Given the description of an element on the screen output the (x, y) to click on. 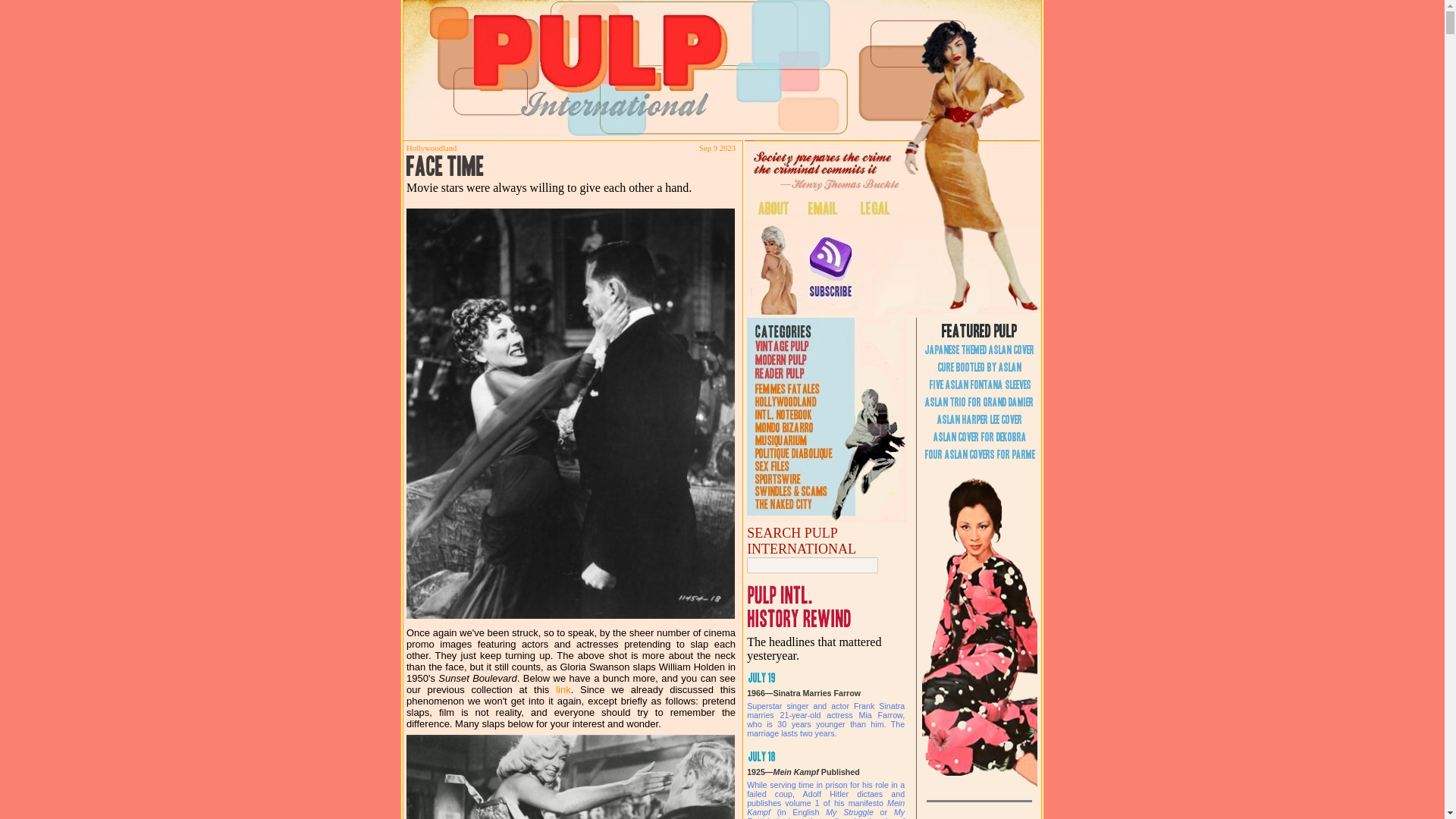
Hollywoodland (431, 148)
link (563, 689)
